Given the description of an element on the screen output the (x, y) to click on. 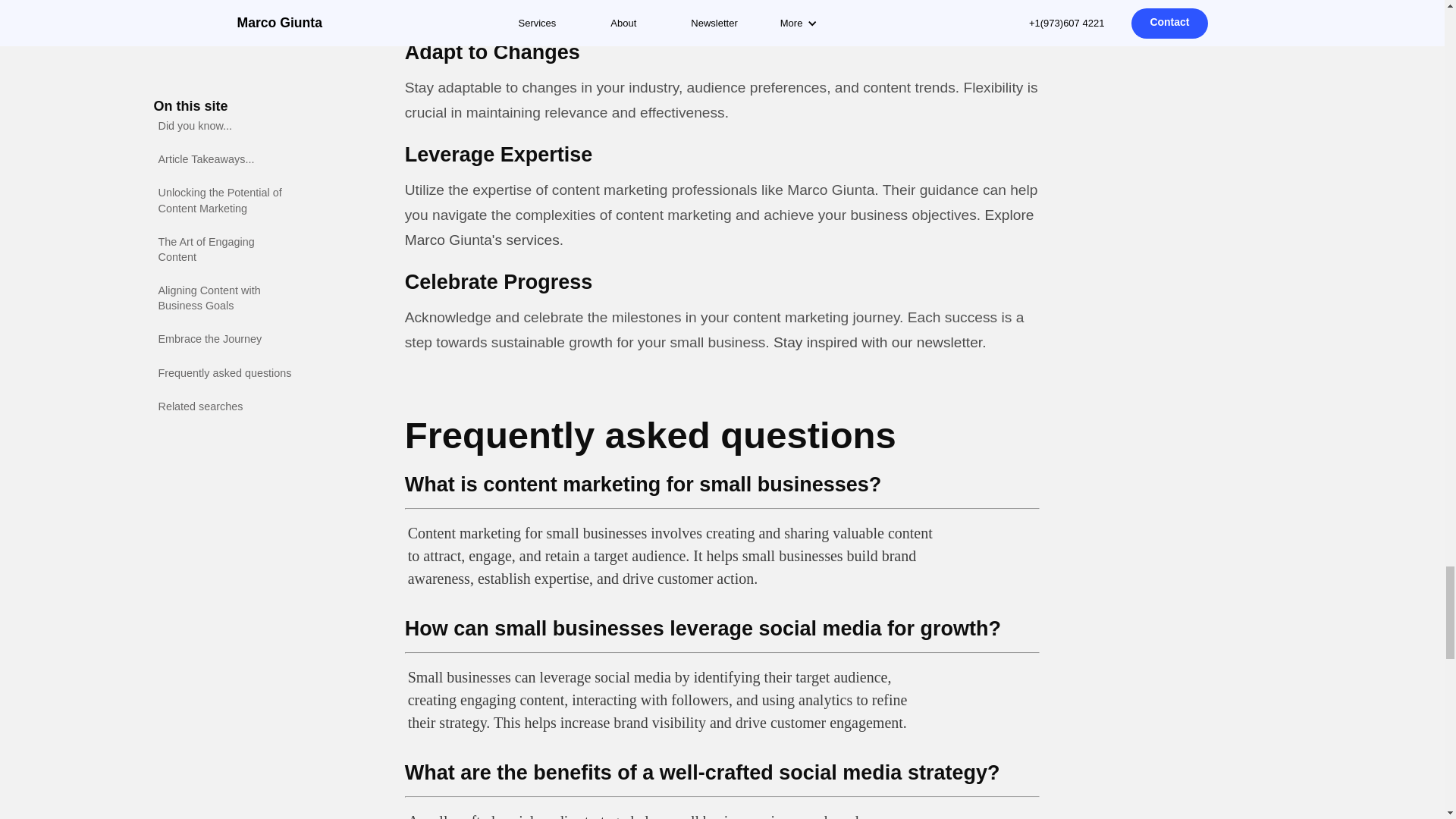
Stay inspired with our newsletter (877, 342)
Explore Marco Giunta's services (718, 227)
